Given the description of an element on the screen output the (x, y) to click on. 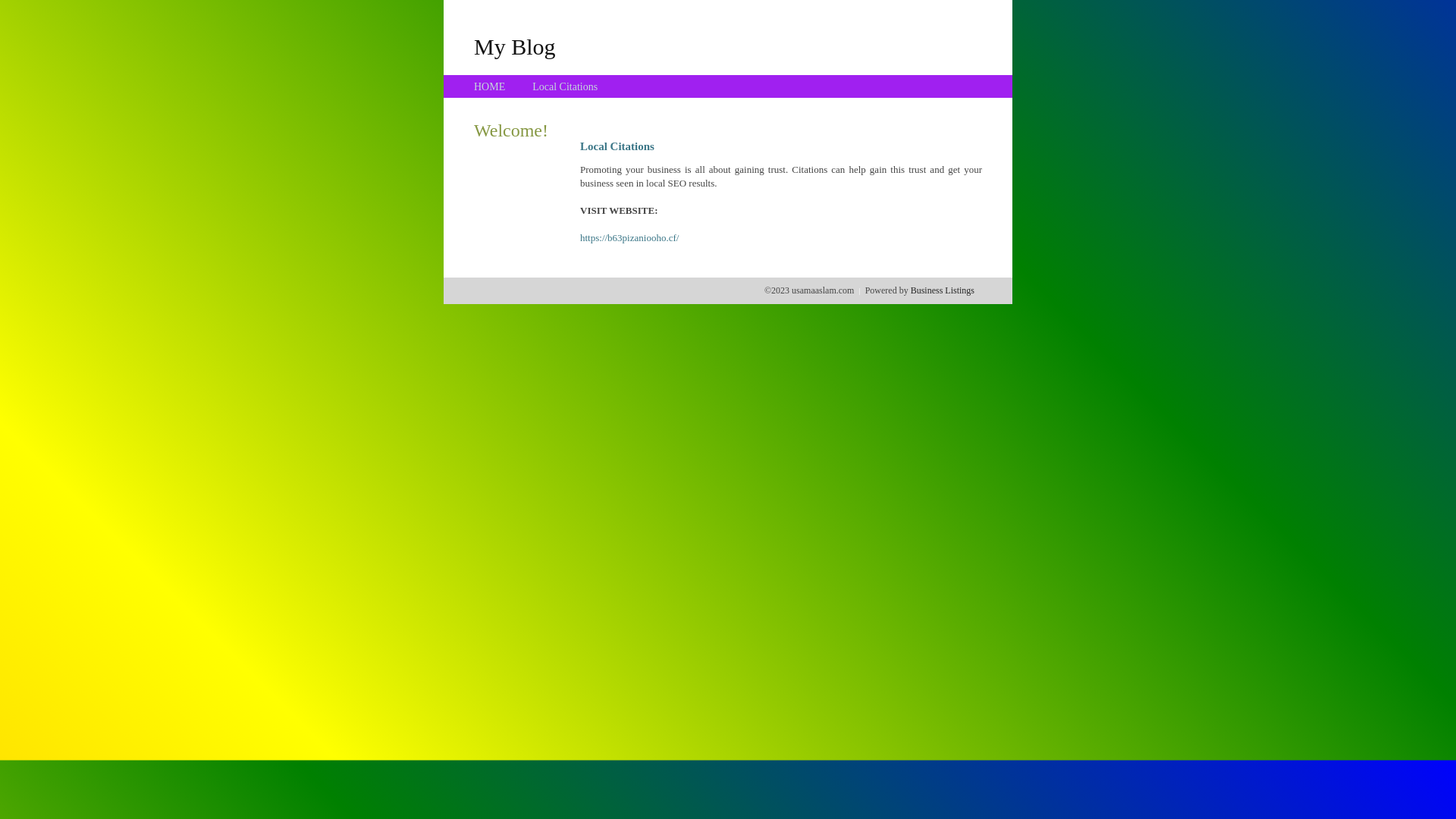
HOME Element type: text (489, 86)
Local Citations Element type: text (564, 86)
Business Listings Element type: text (942, 290)
My Blog Element type: text (514, 46)
https://b63pizaniooho.cf/ Element type: text (629, 237)
